Given the description of an element on the screen output the (x, y) to click on. 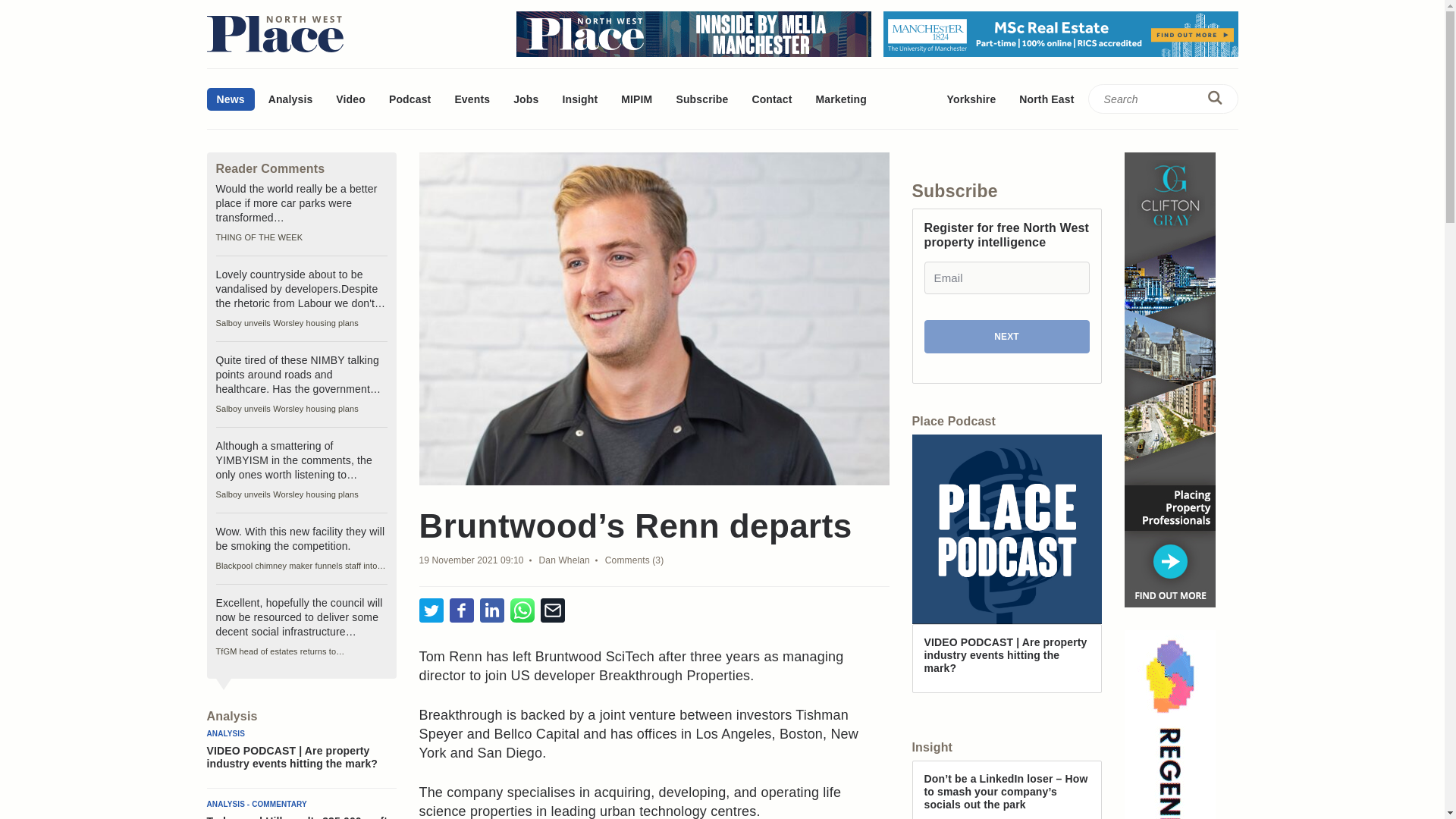
North East (1046, 98)
Share on LinkedIn (491, 611)
Next (1006, 336)
Analysis (291, 98)
MIPIM (636, 98)
Yorkshire (971, 98)
Share by Email (552, 611)
Contact (771, 98)
Events (471, 98)
Subscribe (701, 98)
